Given the description of an element on the screen output the (x, y) to click on. 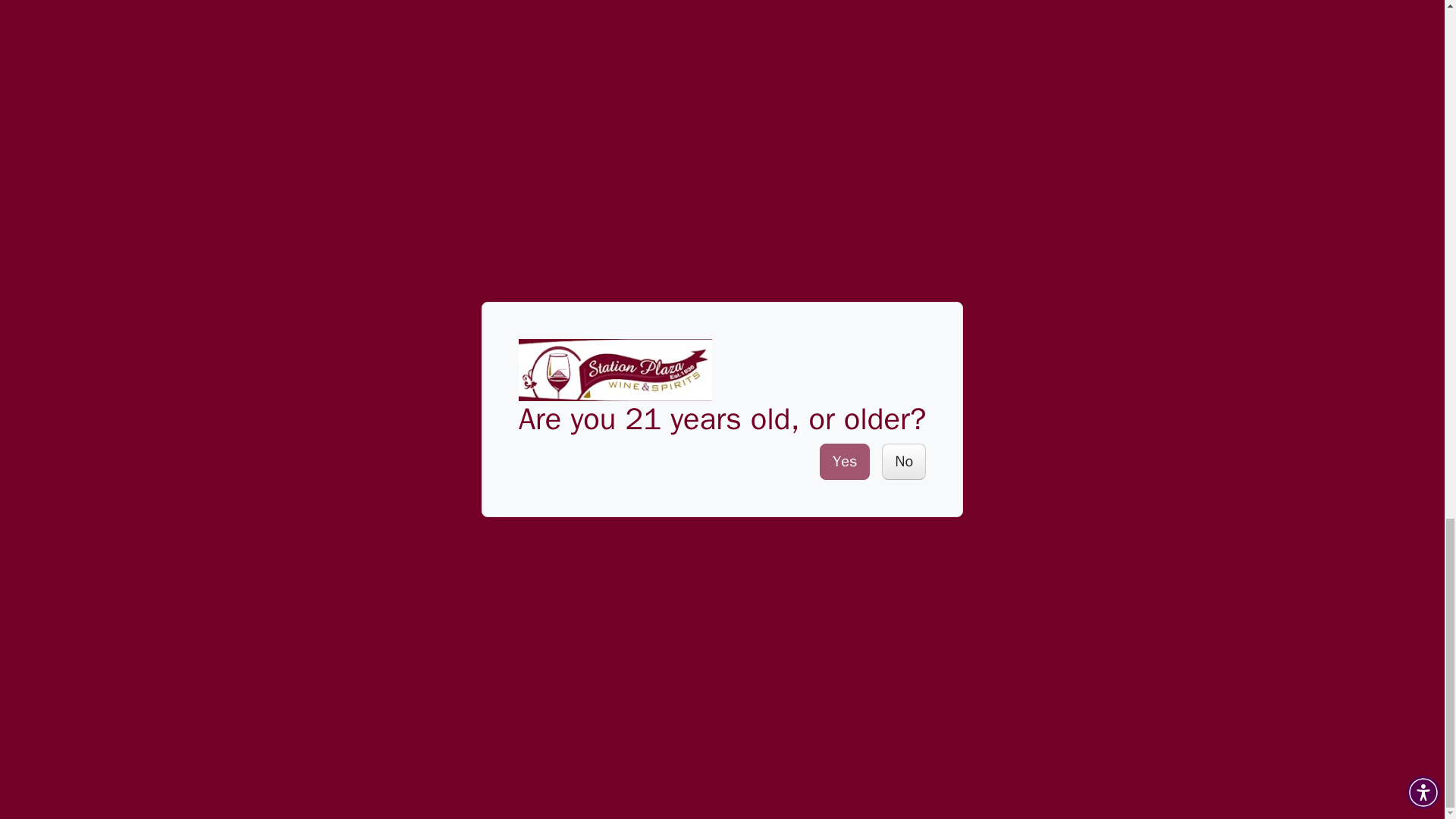
Wine Enthusiast 89 point rating (599, 322)
Wine Spectator 94 point rating. (774, 30)
Station Plaza Wine 90 point rating (1090, 322)
